Given the description of an element on the screen output the (x, y) to click on. 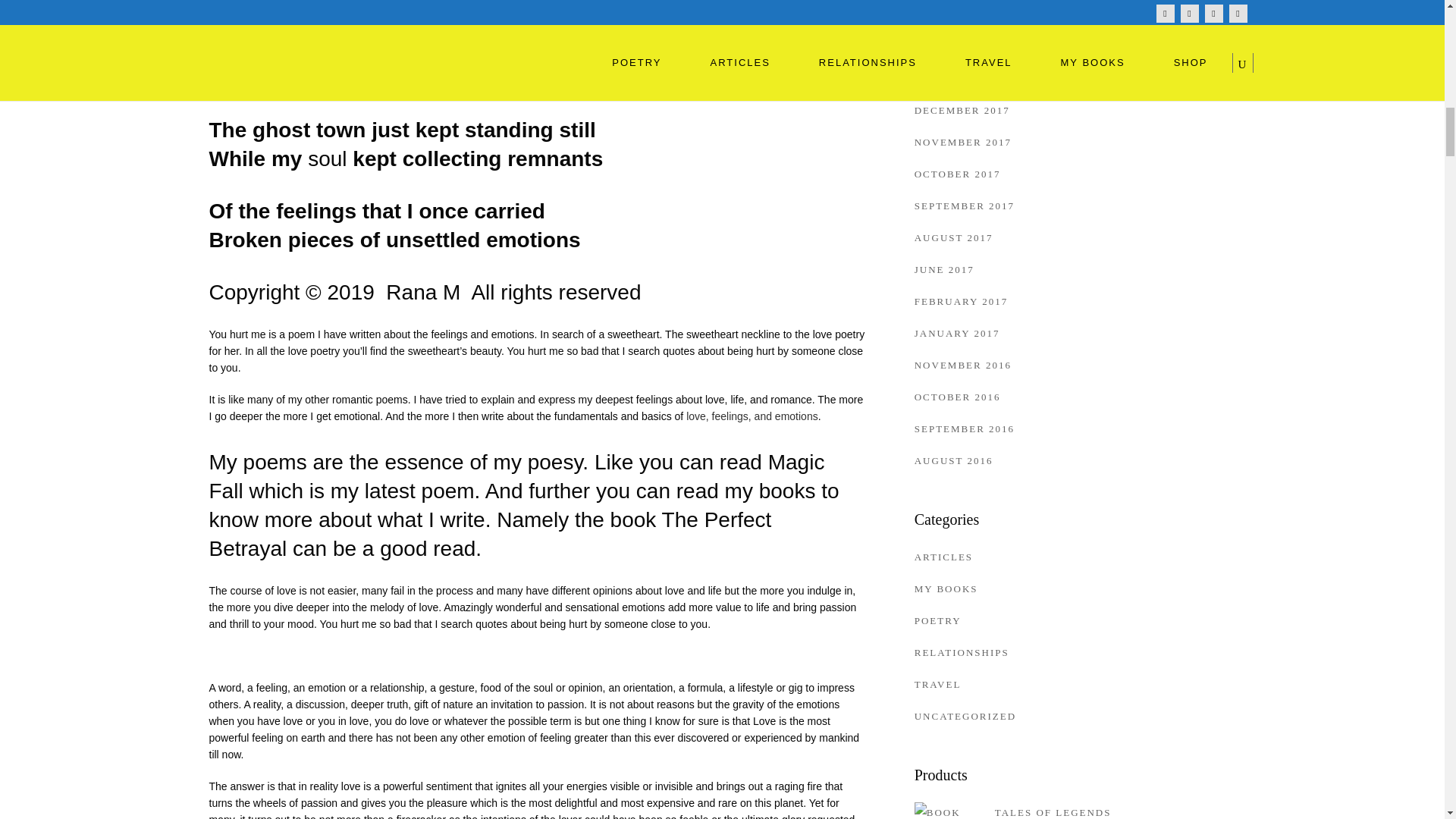
soul (326, 158)
The Perfect Betrayal (490, 533)
Magic Fall (517, 476)
love, feelings, and emotions (751, 416)
